Given the description of an element on the screen output the (x, y) to click on. 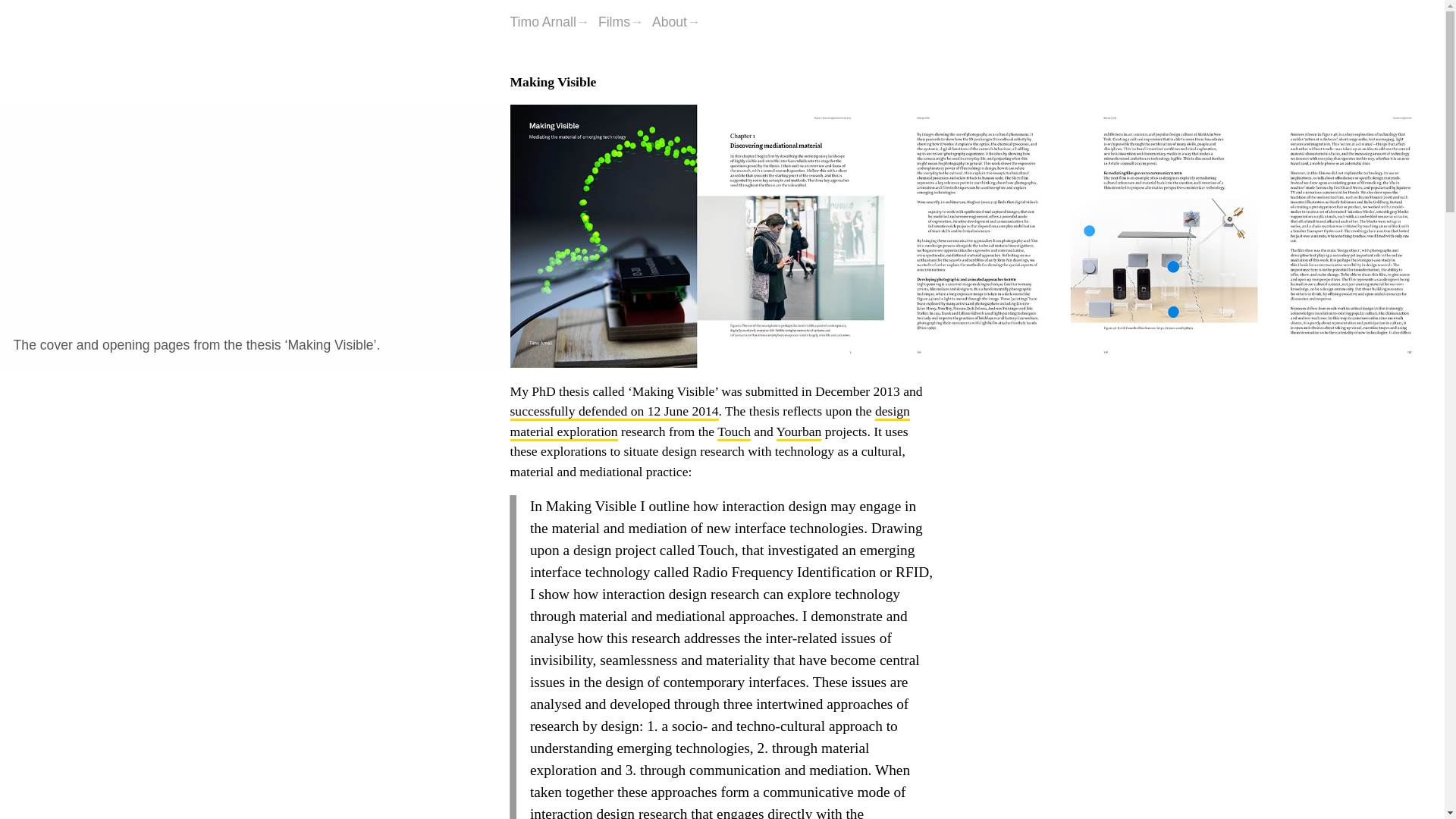
Yourban (799, 431)
design material exploration (708, 420)
About (676, 21)
Films (620, 21)
Touch (734, 431)
successfully defended on 12 June 2014 (613, 410)
Timo Arnall (549, 21)
